Given the description of an element on the screen output the (x, y) to click on. 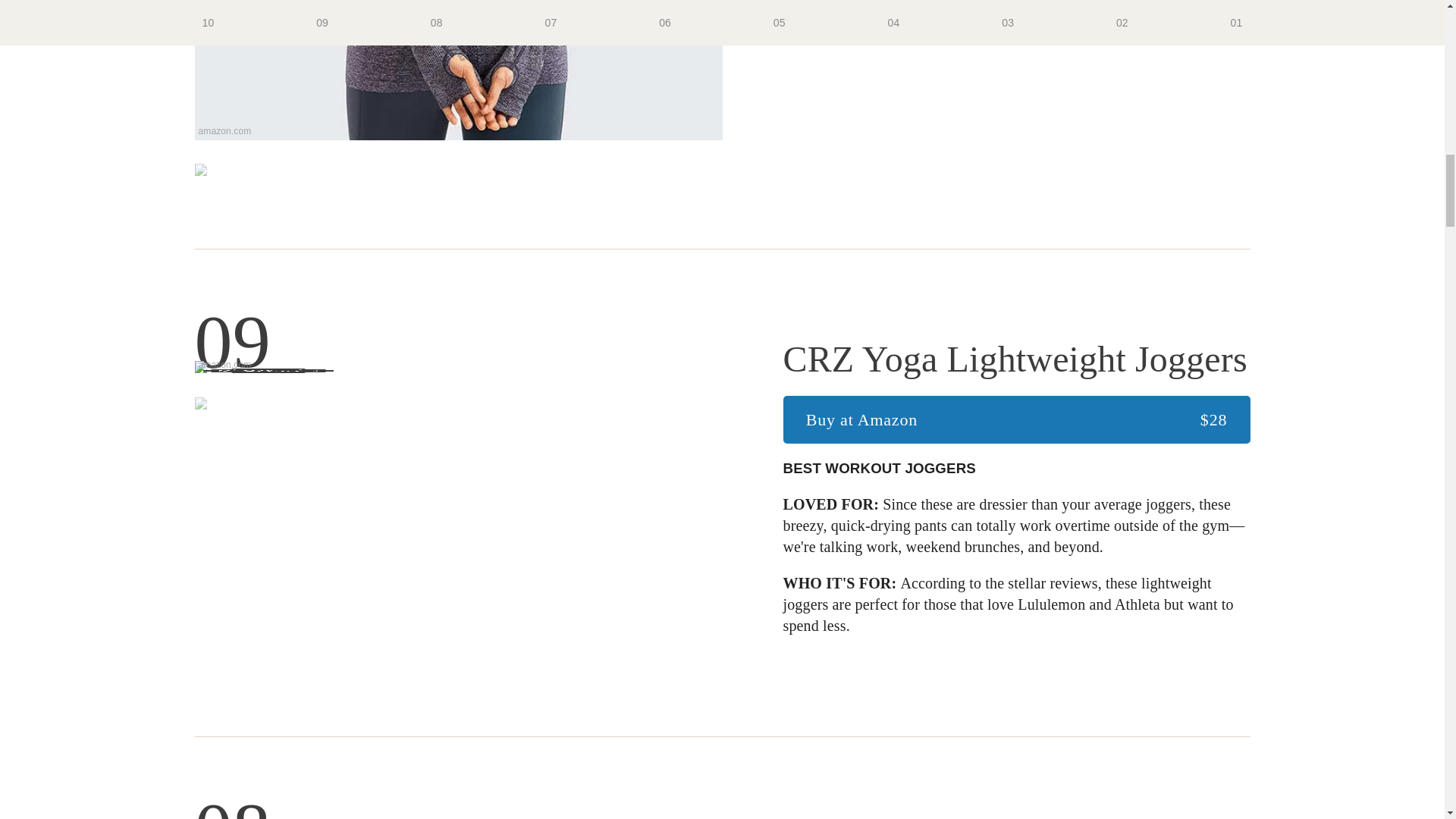
CRZ Yoga Lightweight Joggers (1016, 359)
